Given the description of an element on the screen output the (x, y) to click on. 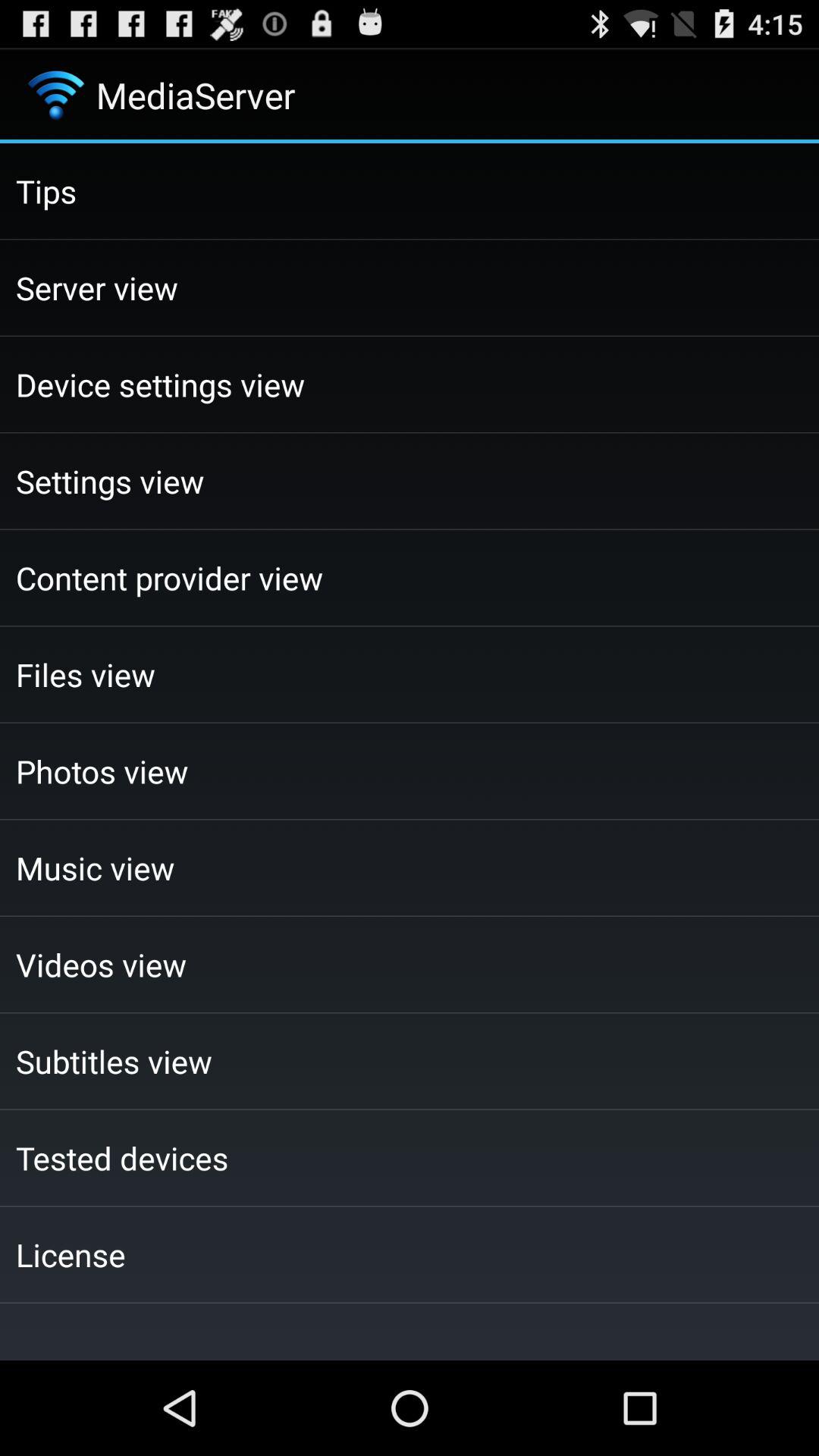
press the checkbox below the content provider view icon (409, 674)
